Given the description of an element on the screen output the (x, y) to click on. 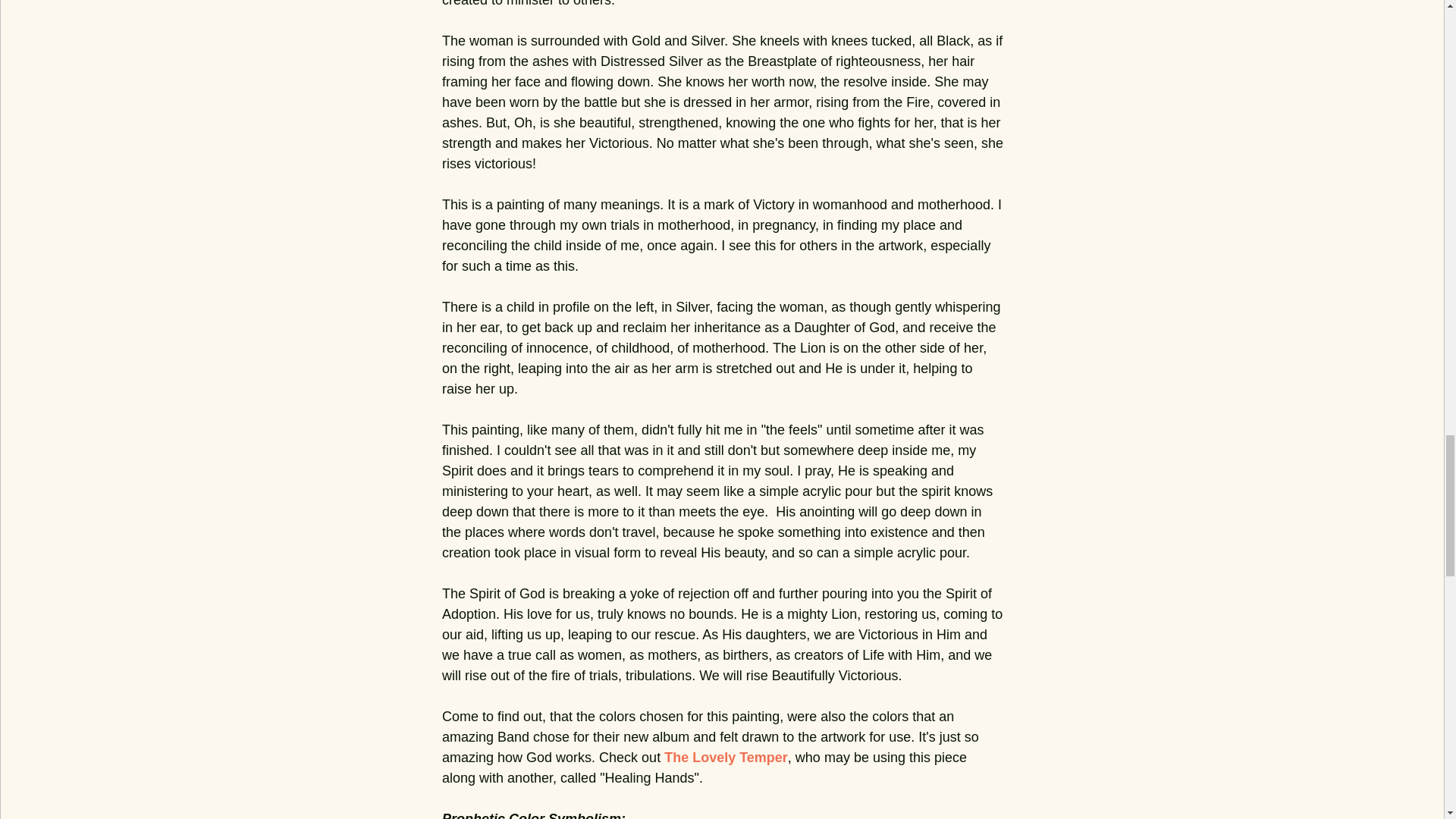
The Lovely Temper (725, 757)
